Given the description of an element on the screen output the (x, y) to click on. 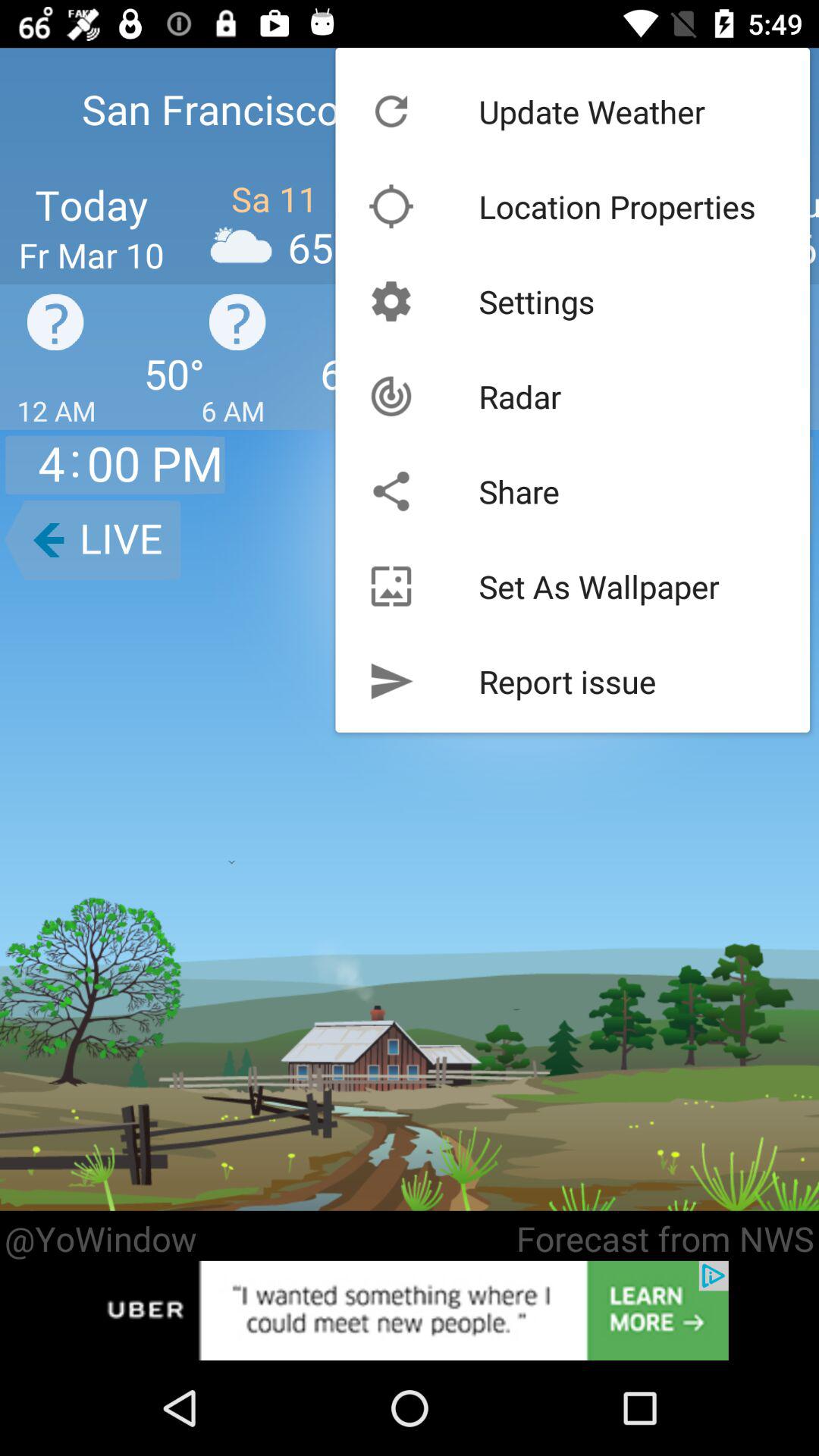
turn off the item below the update weather icon (616, 206)
